Given the description of an element on the screen output the (x, y) to click on. 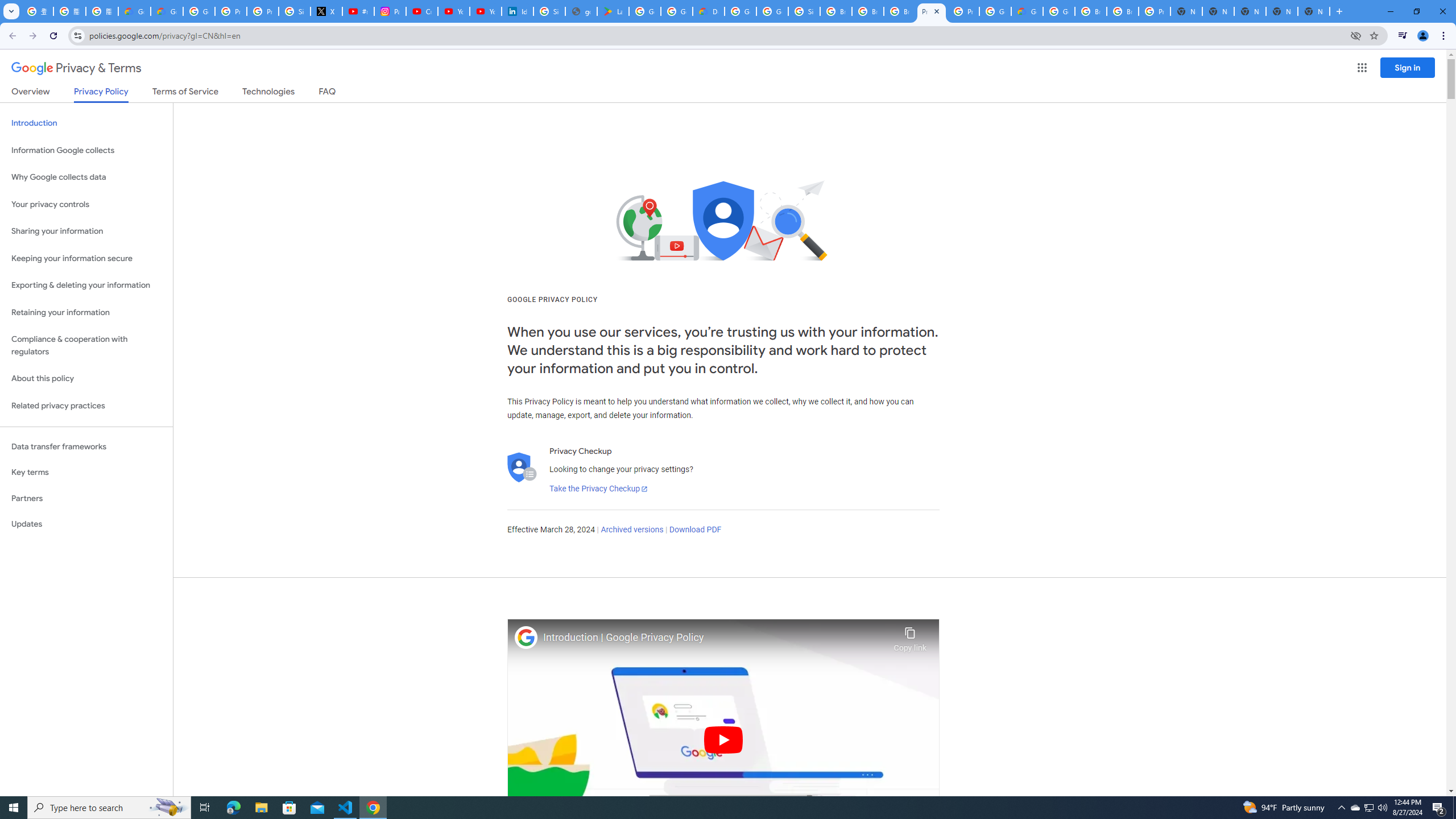
Copy link (909, 636)
Retaining your information (86, 312)
Compliance & cooperation with regulators (86, 345)
Google apps (1362, 67)
Partners (86, 497)
Google Workspace - Specific Terms (676, 11)
Sign in - Google Accounts (804, 11)
#nbabasketballhighlights - YouTube (358, 11)
